Given the description of an element on the screen output the (x, y) to click on. 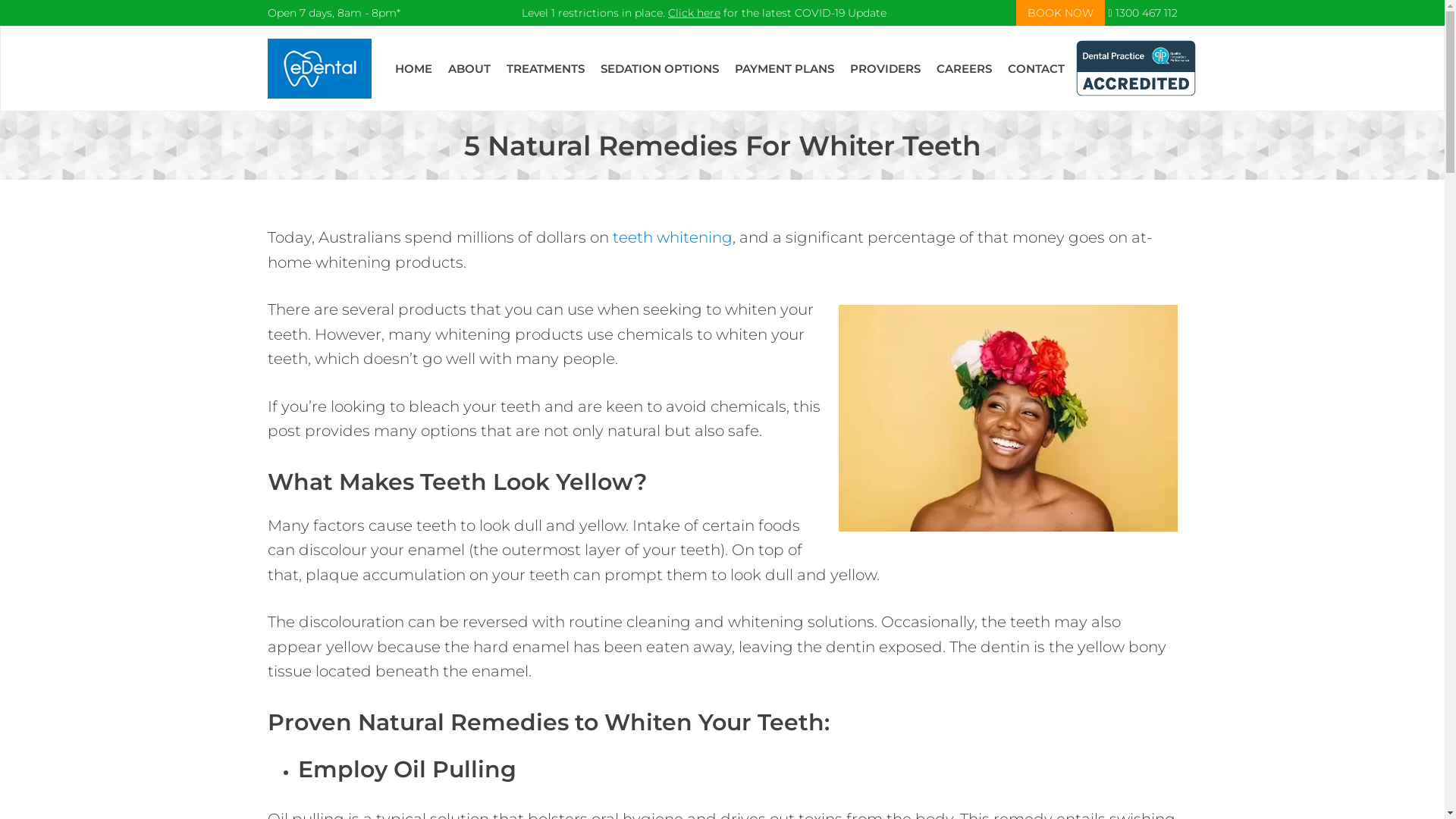
TREATMENTS Element type: text (545, 68)
PROVIDERS Element type: text (885, 68)
CAREERS Element type: text (963, 68)
1300 467 112 Element type: text (1141, 12)
HOME Element type: text (413, 68)
SEDATION OPTIONS Element type: text (659, 68)
PAYMENT PLANS Element type: text (784, 68)
teeth whitening Element type: text (672, 237)
ABOUT Element type: text (469, 68)
Skip to main content Element type: text (0, 25)
Click here Element type: text (694, 12)
eDental Perth Element type: text (318, 68)
CONTACT Element type: text (1035, 68)
BOOK NOW Element type: text (1060, 12)
